Given the description of an element on the screen output the (x, y) to click on. 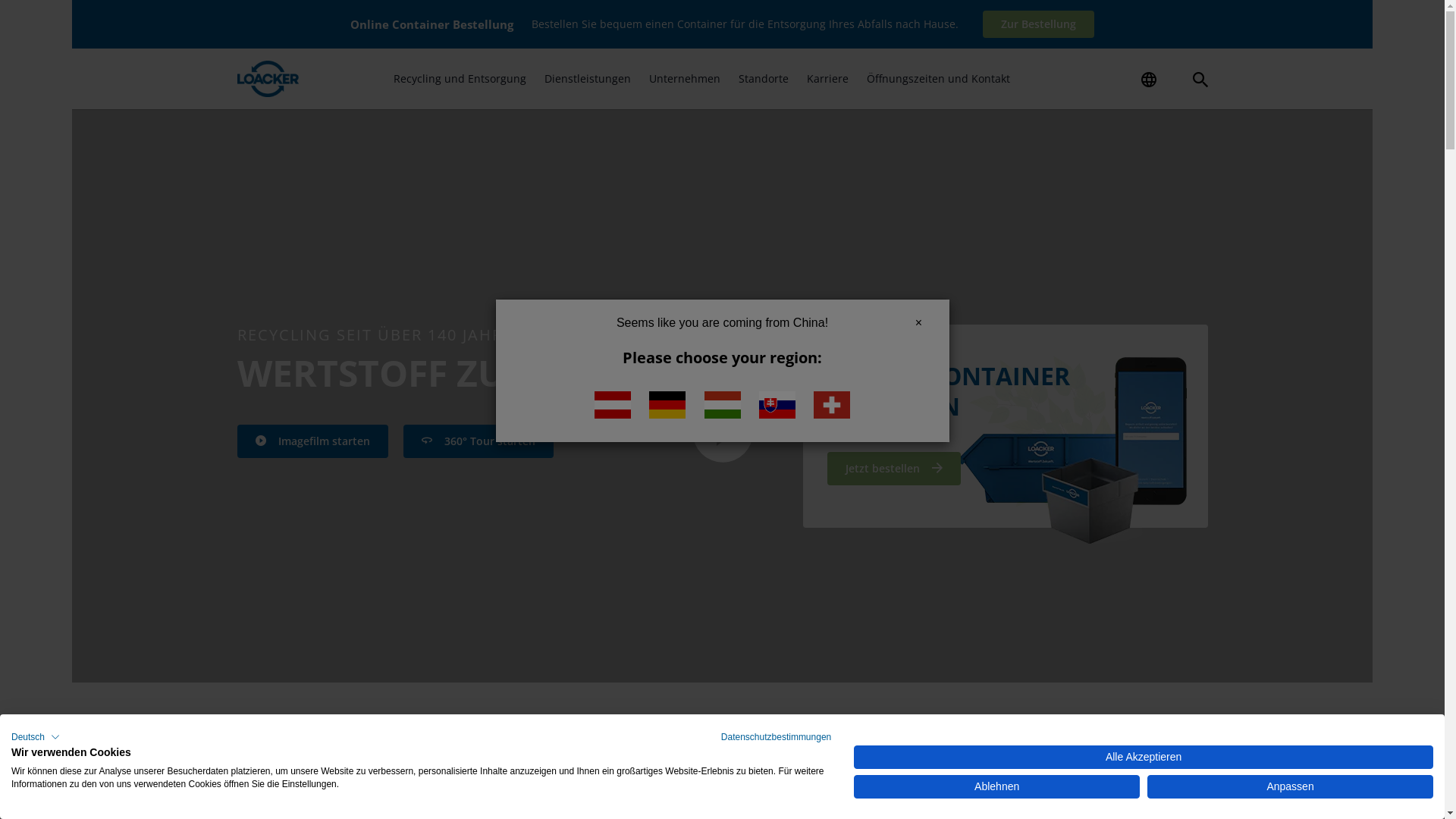
Datenschutzbestimmungen Element type: text (776, 736)
Dienstleistungen Element type: text (587, 78)
Karriere Element type: text (827, 78)
Recycling und Entsorgung Element type: text (459, 78)
Unternehmen Element type: text (684, 78)
Imagefilm starten Element type: text (311, 441)
zur Startseite Element type: hover (267, 78)
Standorte Element type: text (763, 78)
Anpassen Element type: text (1290, 786)
Jetzt bestellen Element type: text (893, 468)
Ablehnen Element type: text (996, 786)
Zur Bestellung Element type: text (1038, 24)
Alle Akzeptieren Element type: text (1143, 756)
